Given the description of an element on the screen output the (x, y) to click on. 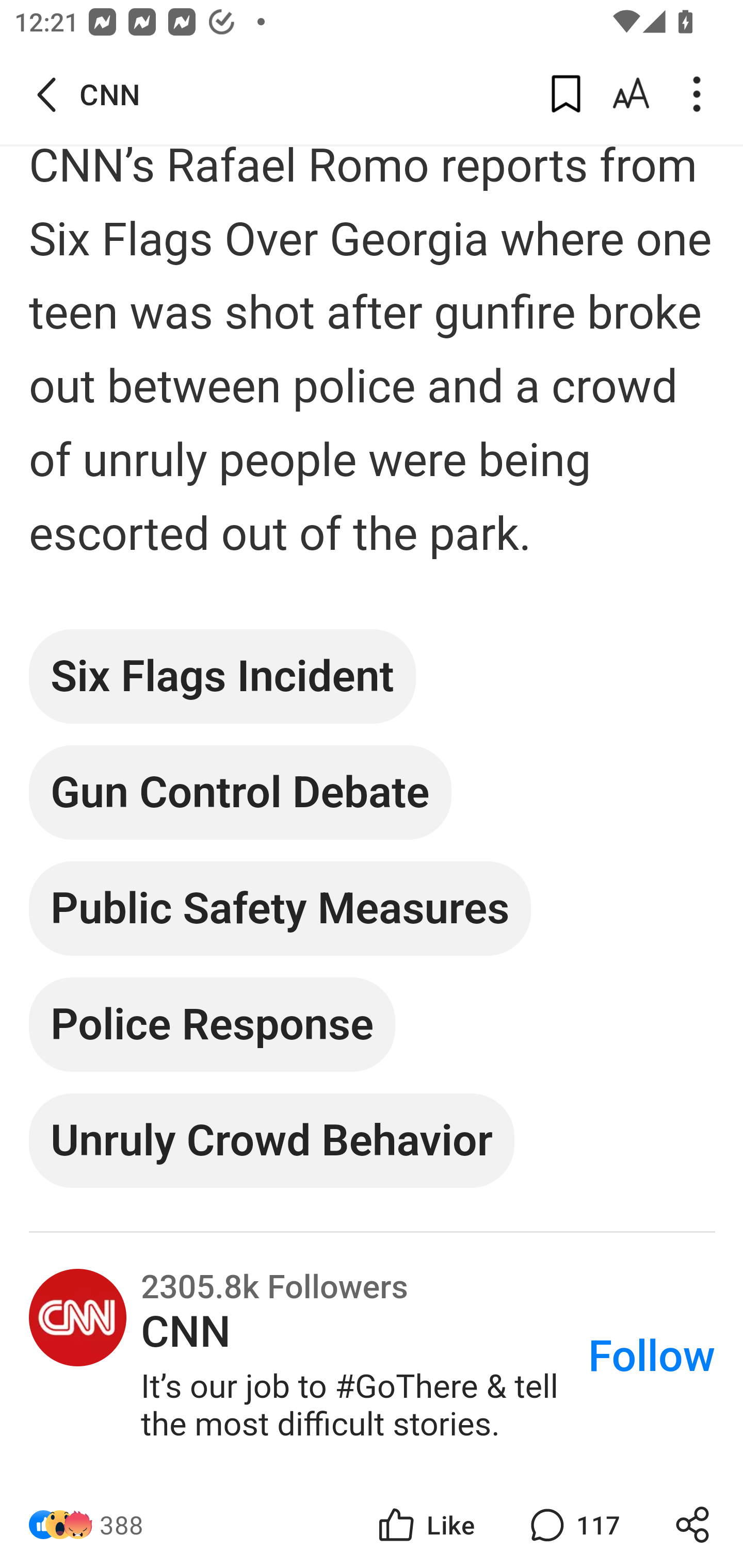
CNN (77, 1319)
Follow (651, 1357)
388 (121, 1524)
Like (425, 1524)
117 (572, 1524)
